Given the description of an element on the screen output the (x, y) to click on. 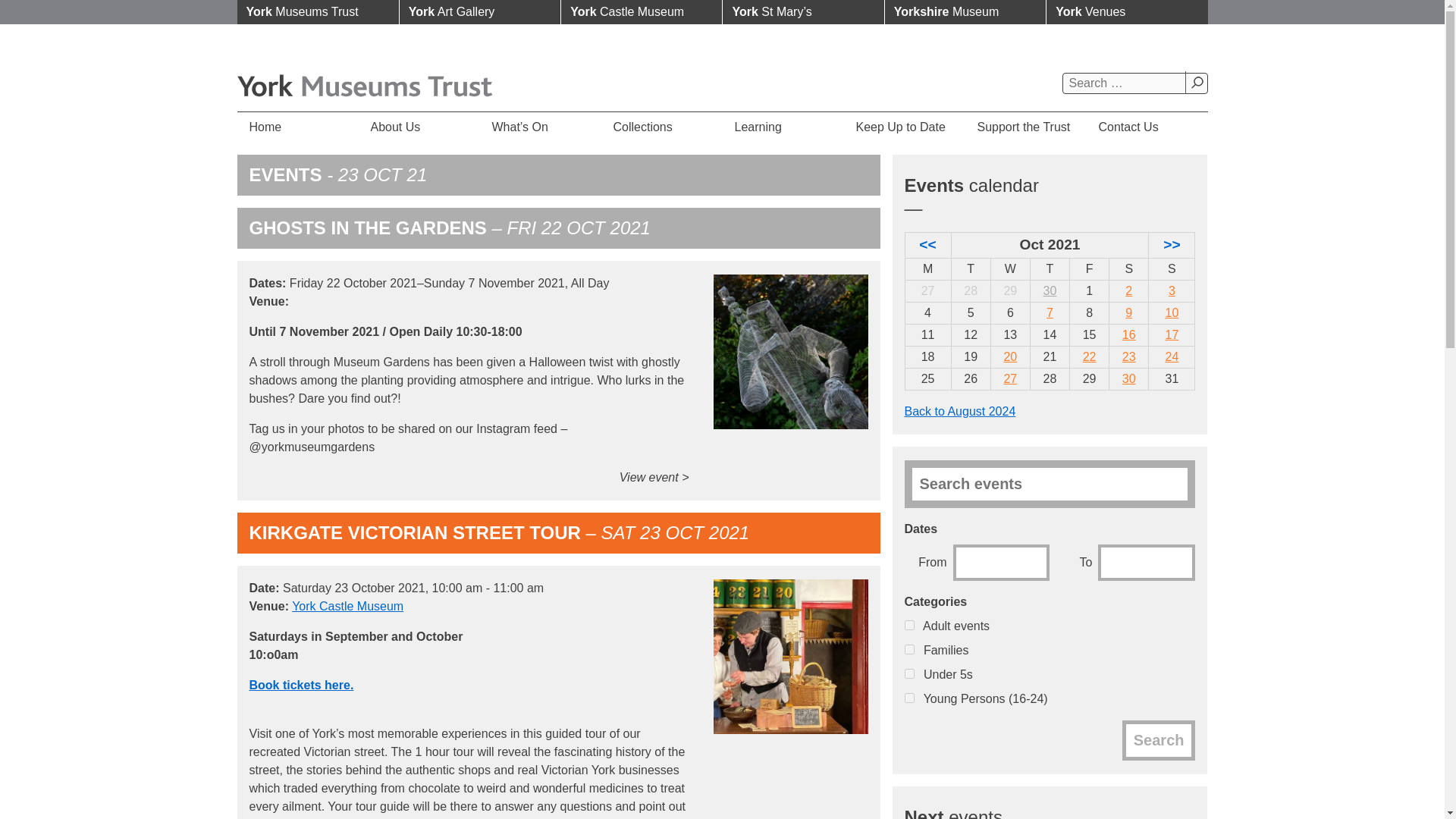
York Museums Trust (316, 12)
Ghosts in the Gardens (1089, 356)
The Hare in the Moon (1170, 356)
York Castle Prison Tour (1170, 312)
8 (909, 649)
About Us (418, 127)
Our Voices, Kirkgate Victorian Street Tour (1128, 356)
How to Queer a Museum with Matt Smith (1128, 378)
York Castle Museum (641, 12)
64 (909, 697)
